Given the description of an element on the screen output the (x, y) to click on. 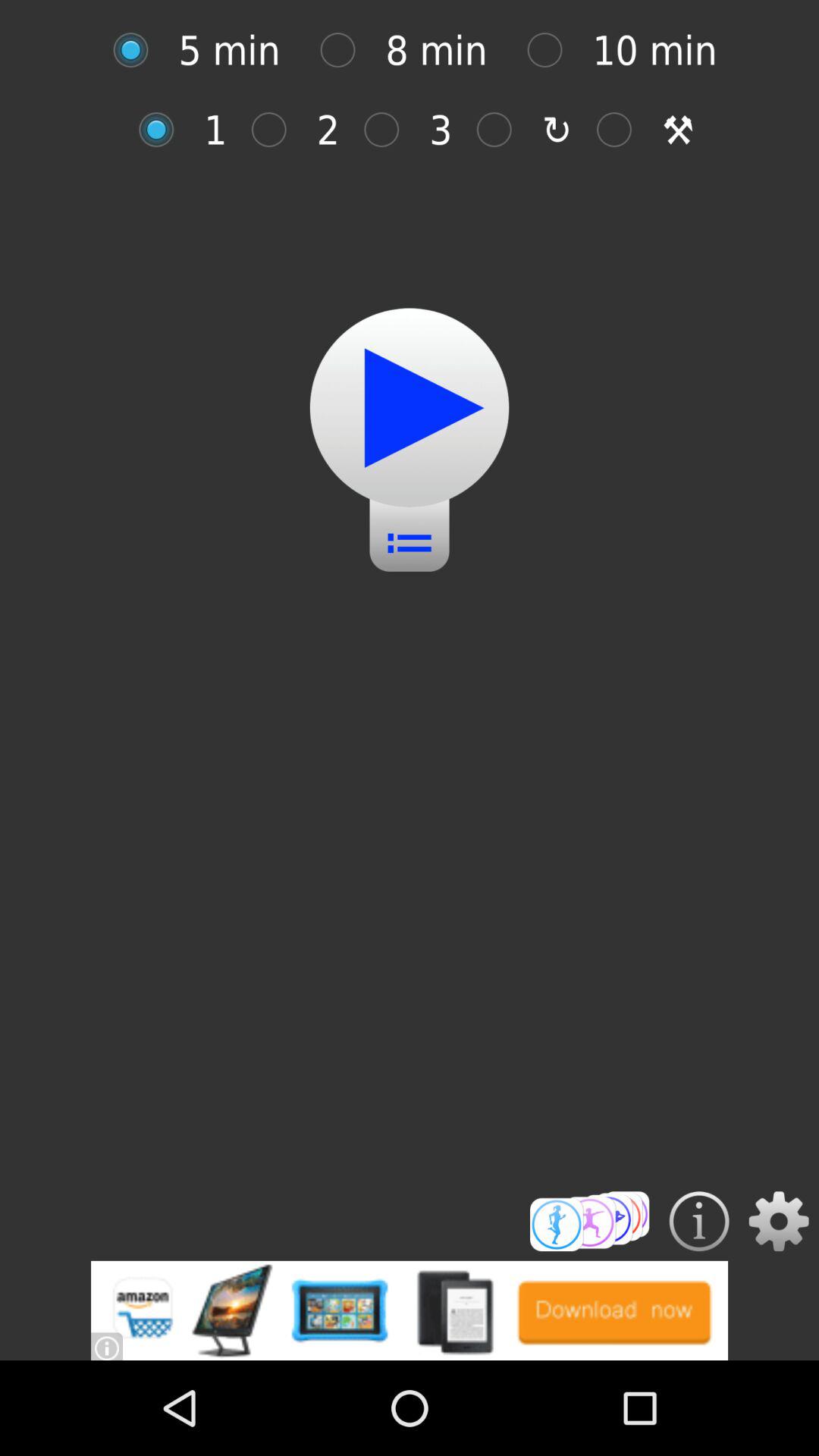
choose your settings (778, 1221)
